Given the description of an element on the screen output the (x, y) to click on. 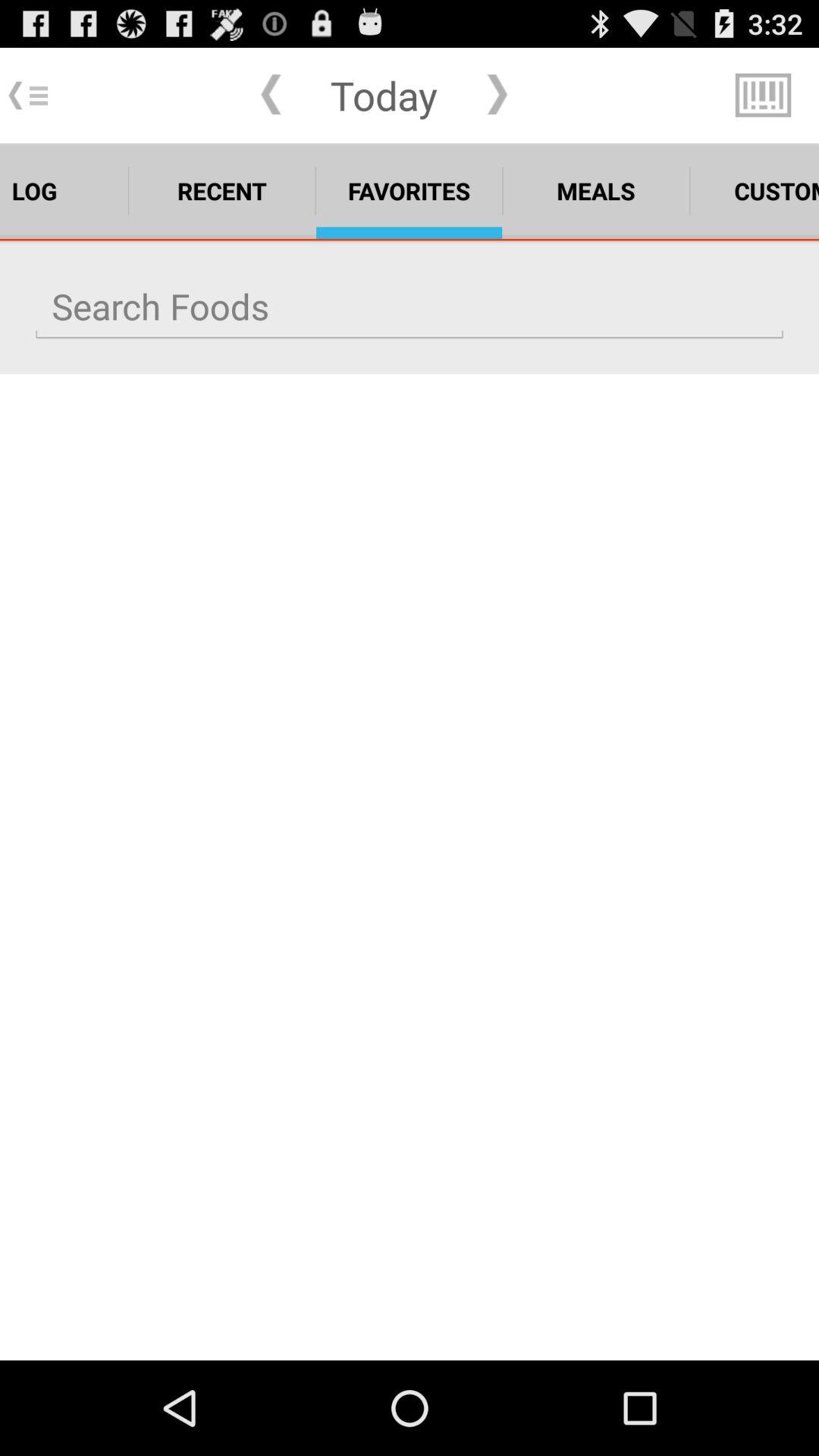
search field (409, 306)
